Given the description of an element on the screen output the (x, y) to click on. 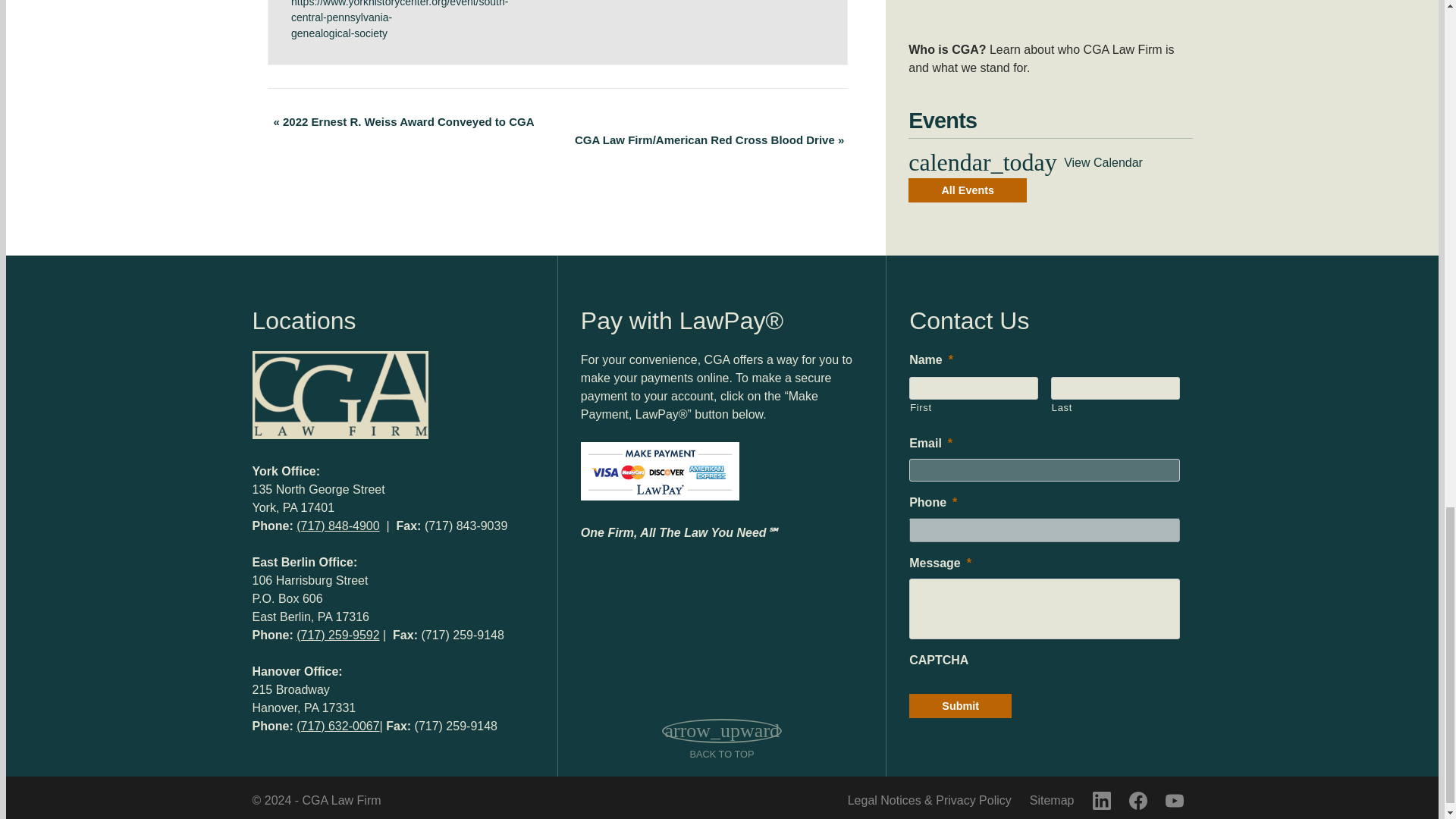
LinkedIn (1100, 800)
Submit (959, 705)
YouTube (1173, 800)
View More Events (967, 189)
Facebook (1137, 800)
